Given the description of an element on the screen output the (x, y) to click on. 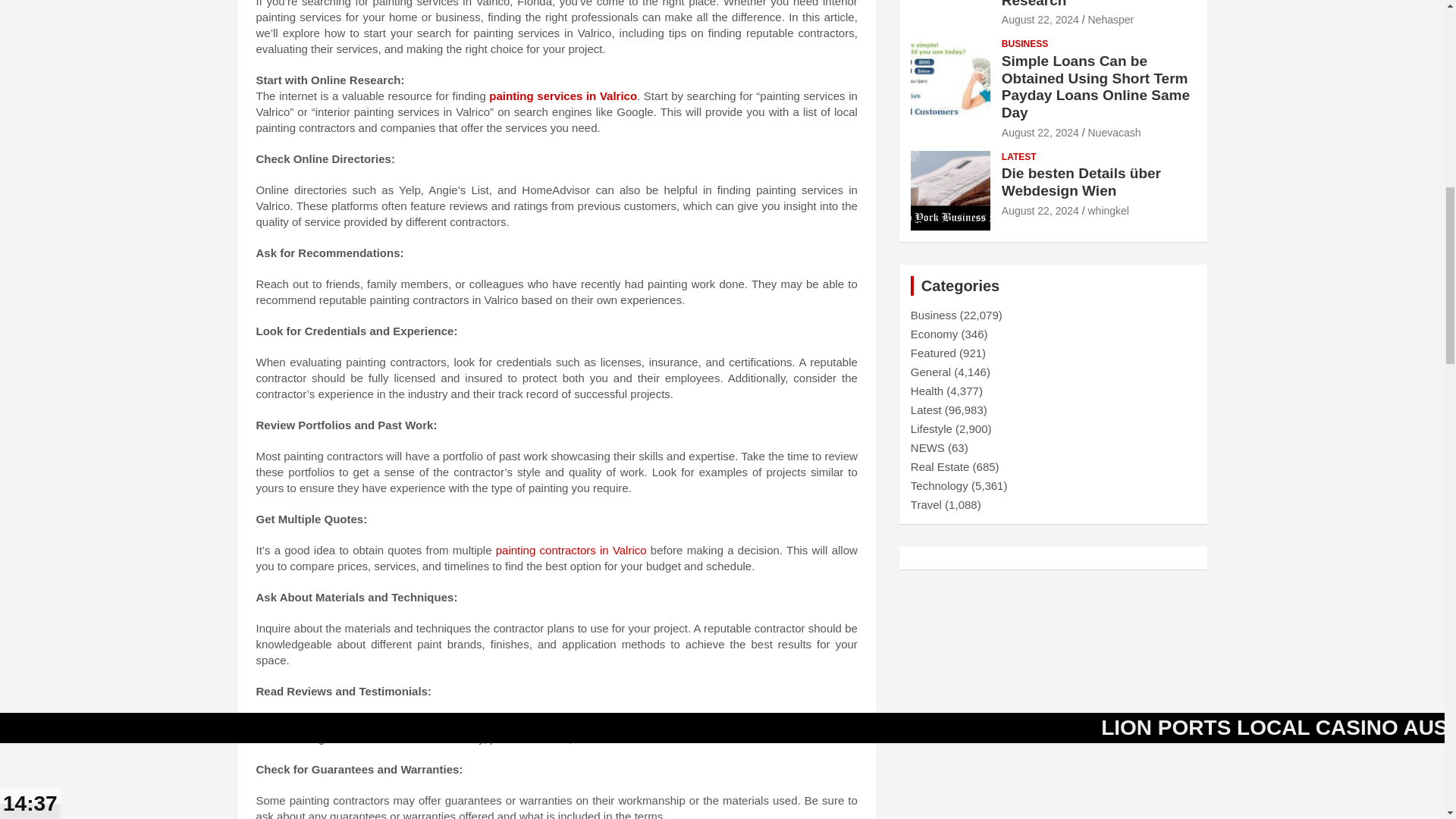
painting services in Valrico (563, 95)
painting contractors in Valrico (571, 549)
